Given the description of an element on the screen output the (x, y) to click on. 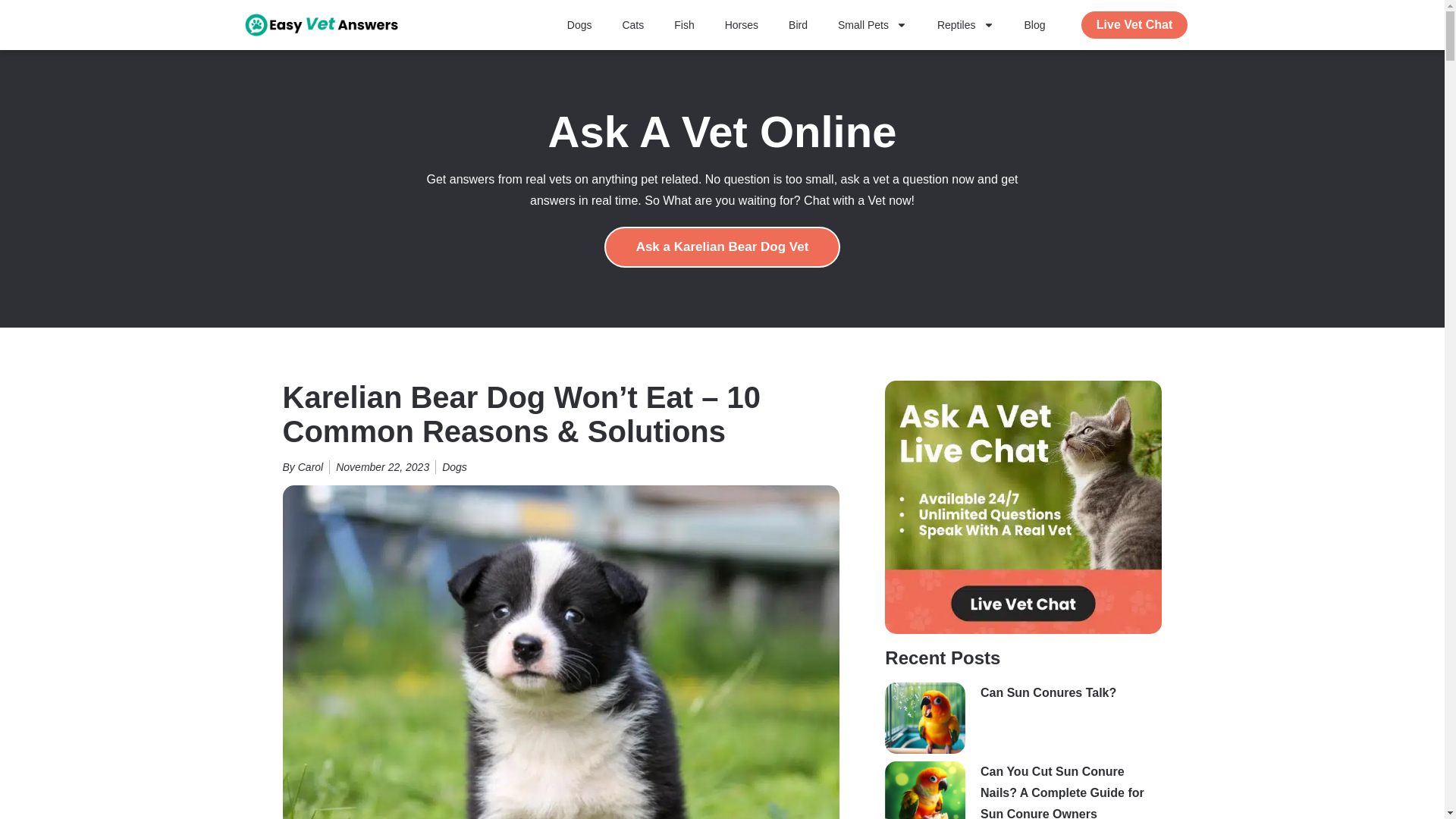
Fish (684, 24)
Reptiles (965, 24)
Horses (741, 24)
Dogs (579, 24)
Cats (633, 24)
Small Pets (871, 24)
Bird (797, 24)
Blog (1034, 24)
